Given the description of an element on the screen output the (x, y) to click on. 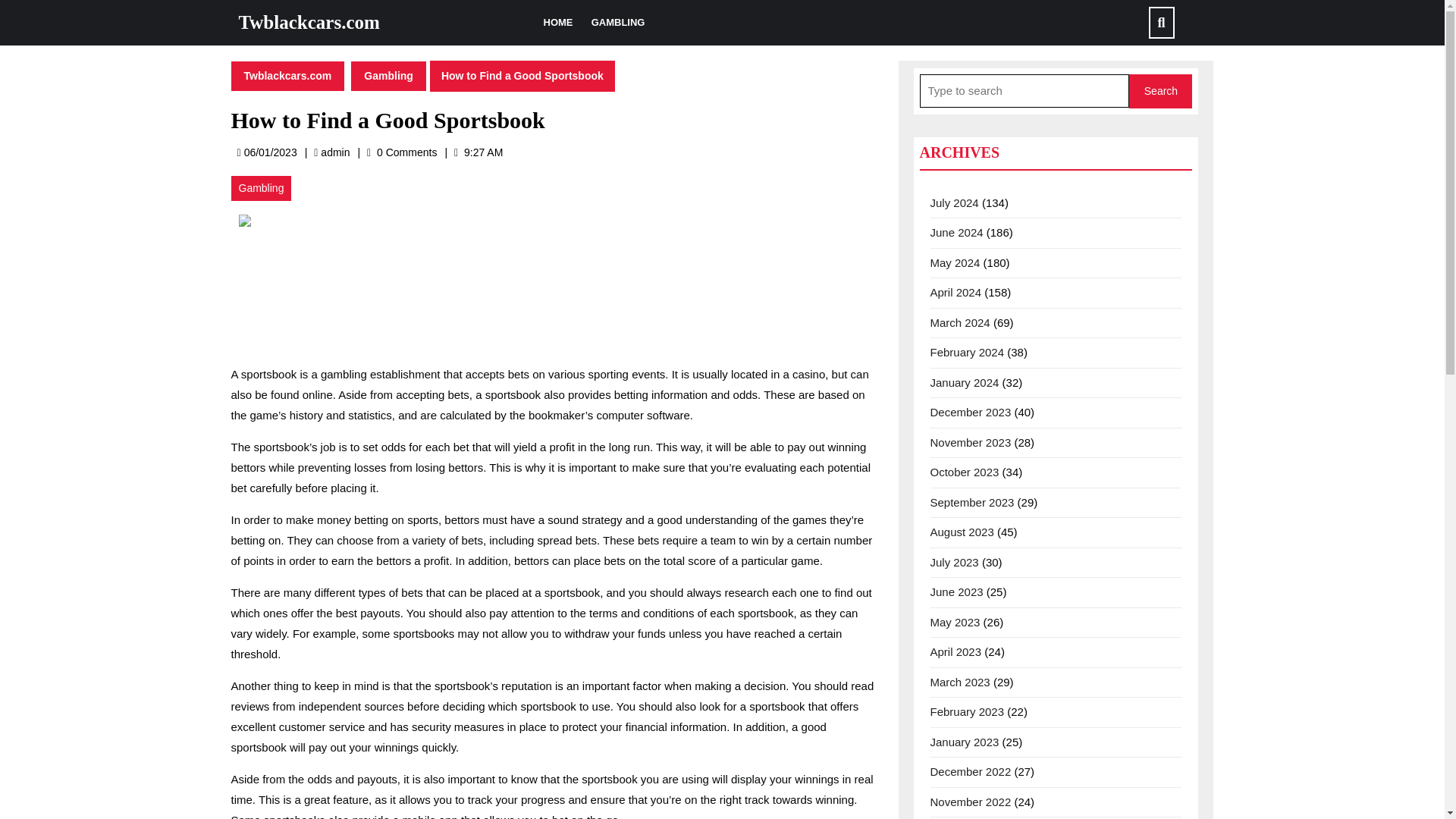
March 2023 (960, 680)
April 2024 (955, 291)
GAMBLING (618, 22)
February 2023 (967, 711)
January 2024 (964, 382)
September 2023 (971, 502)
July 2024 (954, 201)
Twblackcars.com (334, 151)
Search (286, 75)
February 2024 (1160, 91)
August 2023 (967, 351)
April 2023 (961, 531)
Gambling (955, 651)
May 2024 (260, 188)
